Given the description of an element on the screen output the (x, y) to click on. 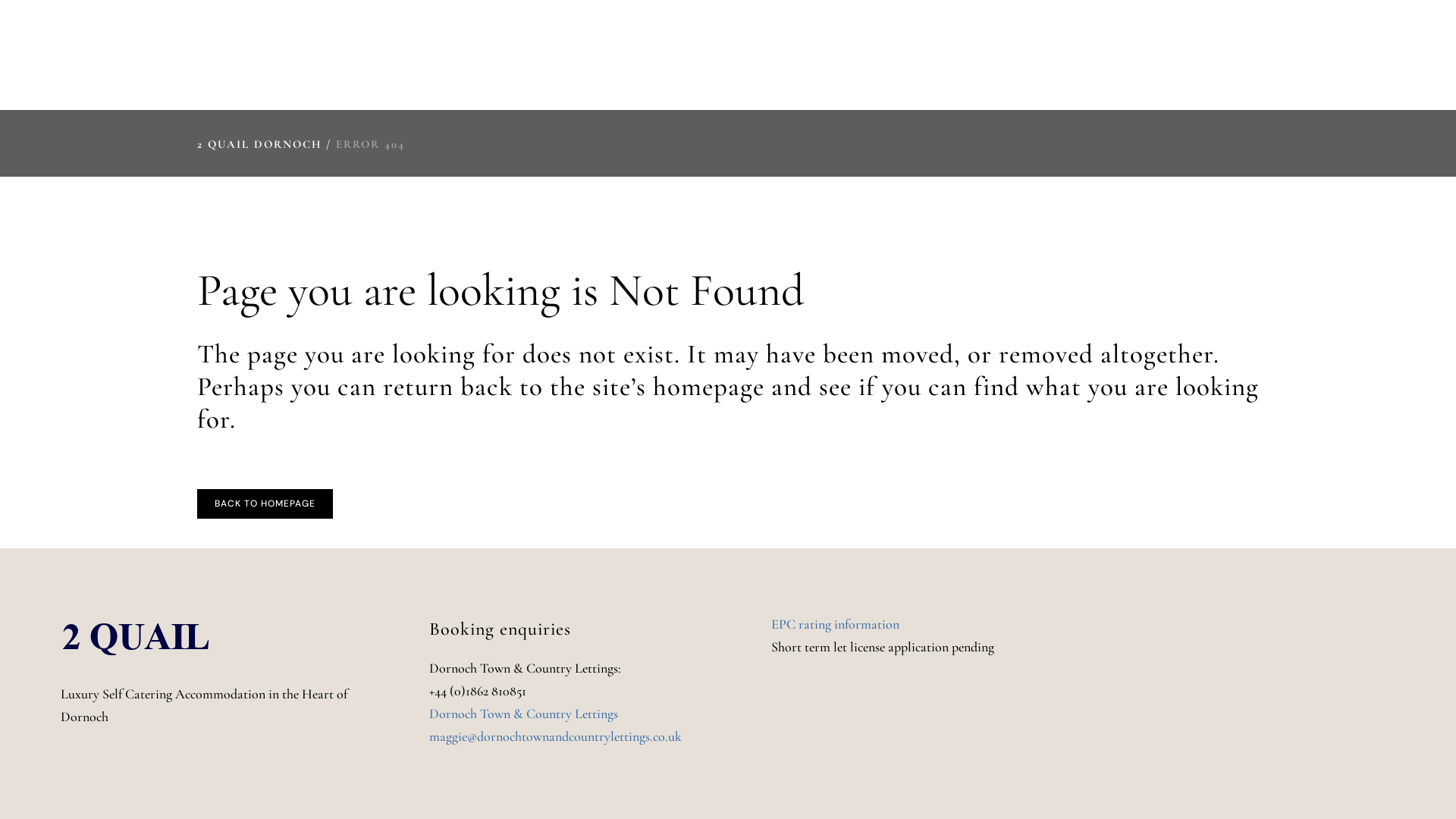
Dornoch Town & Country Lettings Element type: text (523, 713)
EPC rating information Element type: text (835, 623)
BACK TO HOMEPAGE Element type: text (264, 503)
ABOUT 2 QUAIL Element type: text (899, 54)
maggie@dornochtownandcountrylettings.co.uk Element type: text (555, 736)
CONTACT & BOOKINGS Element type: text (1335, 54)
THE HOUSE Element type: text (1011, 54)
FLOOR PLAN Element type: text (1114, 54)
2 QUAIL DORNOCH Element type: text (259, 143)
GALLERY Element type: text (1208, 54)
